Given the description of an element on the screen output the (x, y) to click on. 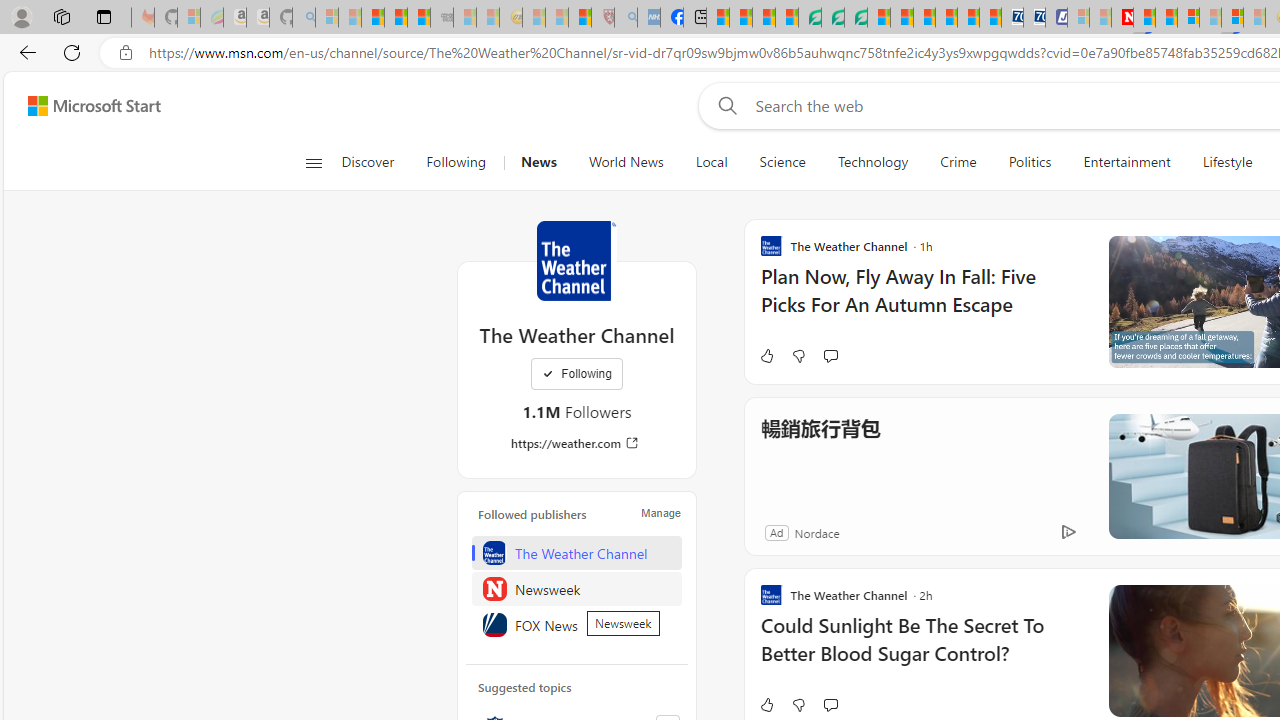
Could Sunlight Be The Secret To Better Blood Sugar Control? (922, 650)
The Weather Channel (576, 260)
Newsweek (577, 588)
